Given the description of an element on the screen output the (x, y) to click on. 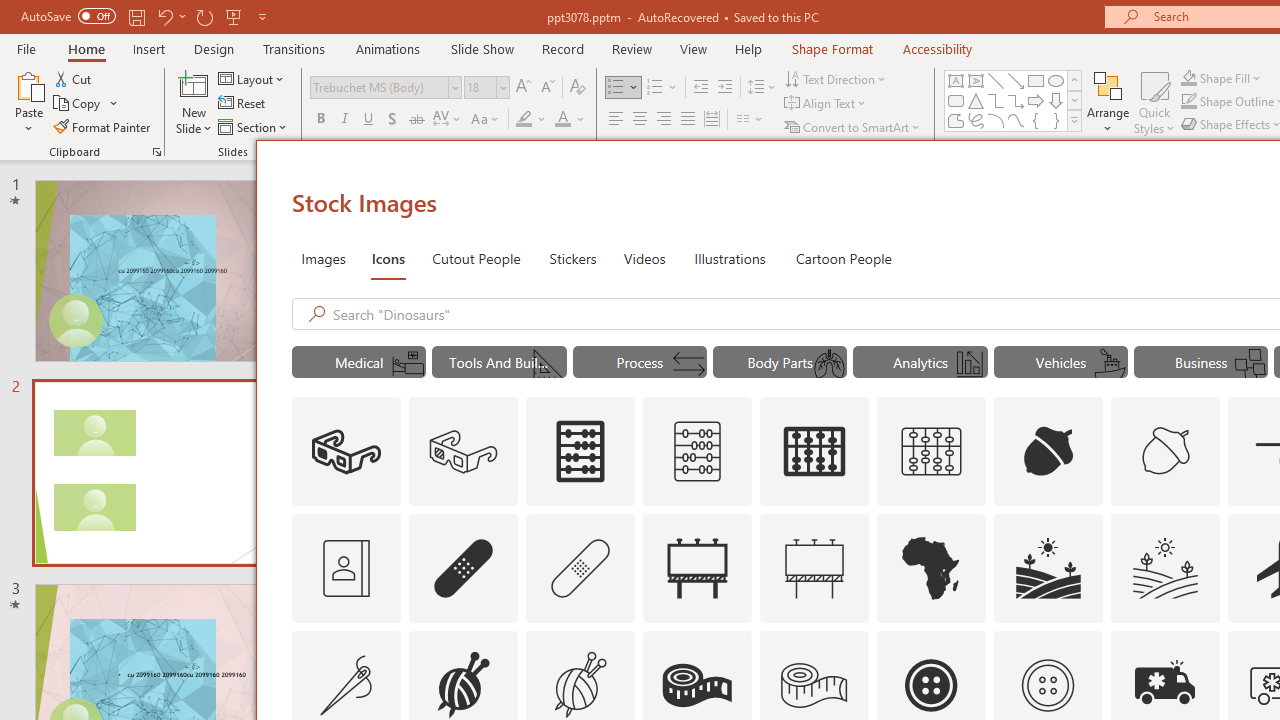
AutomationID: Icons_Lungs_M (829, 364)
"Vehicles" Icons. (1060, 362)
